Given the description of an element on the screen output the (x, y) to click on. 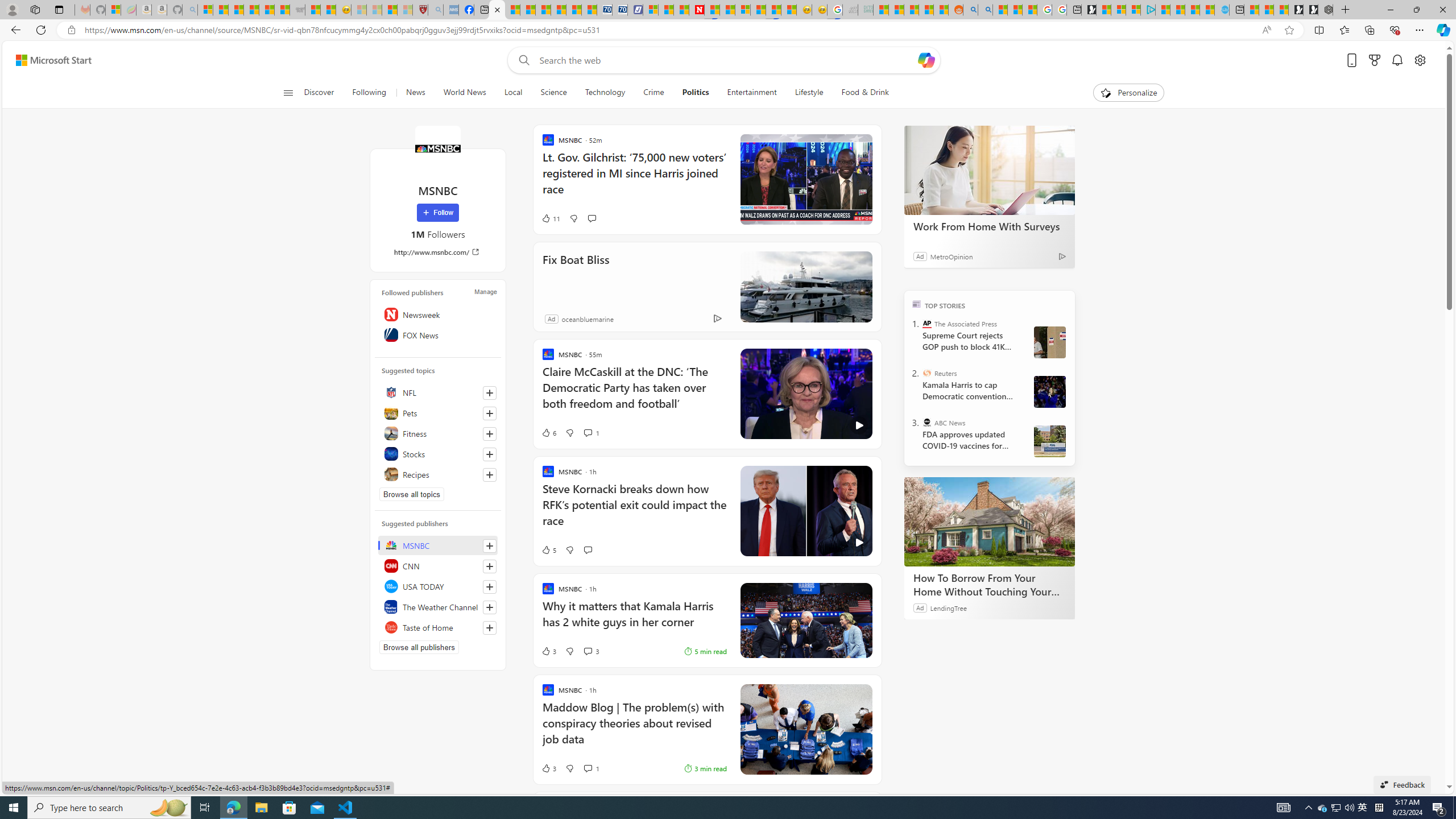
Follow this source (489, 627)
Fix Boat Bliss (805, 286)
Follow this source (489, 627)
Stocks - MSN (281, 9)
New Report Confirms 2023 Was Record Hot | Watch (266, 9)
Reuters (927, 372)
Dislike (569, 768)
Class: hero-image (805, 511)
World News (464, 92)
